Given the description of an element on the screen output the (x, y) to click on. 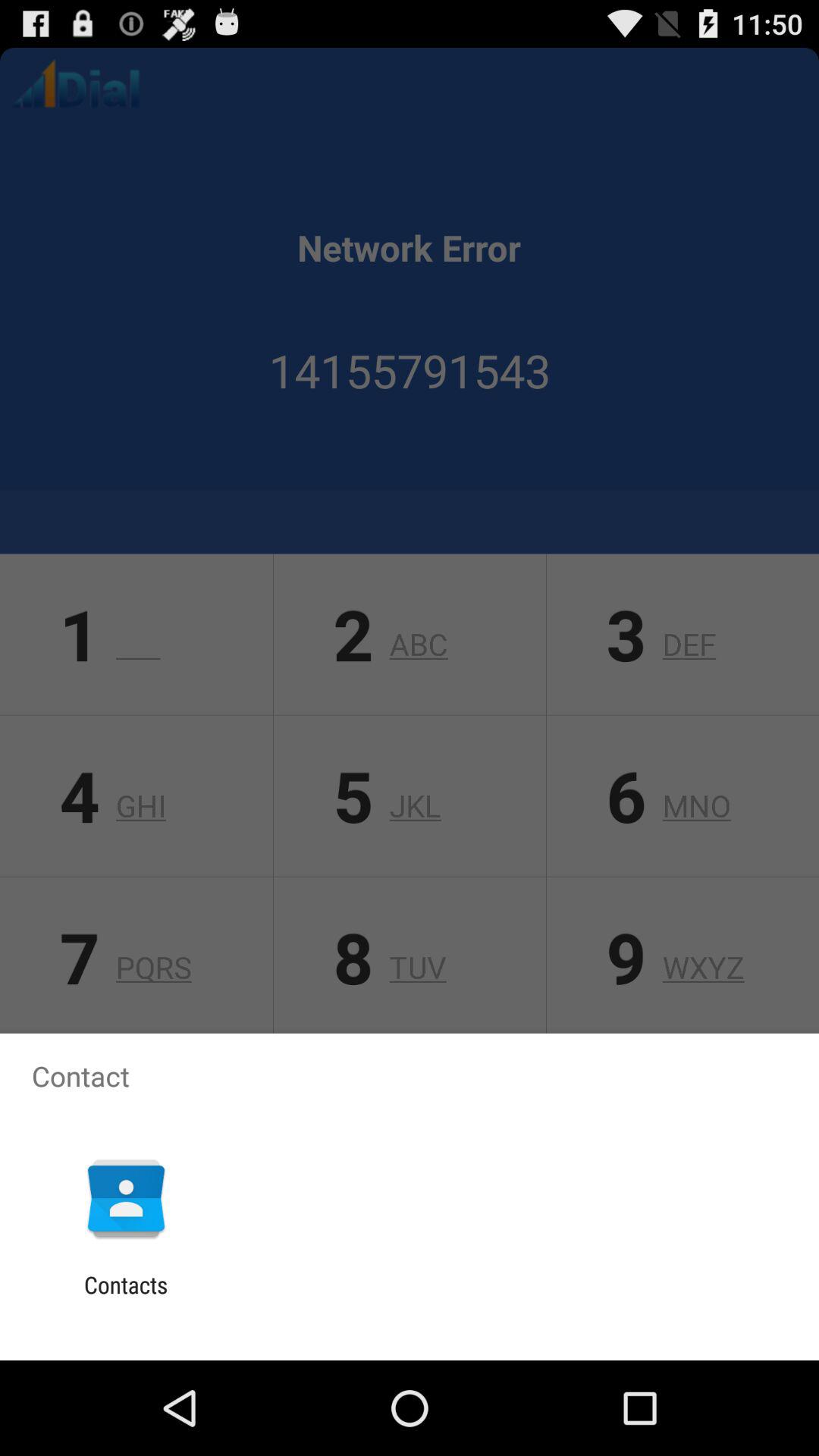
click contacts (125, 1298)
